Given the description of an element on the screen output the (x, y) to click on. 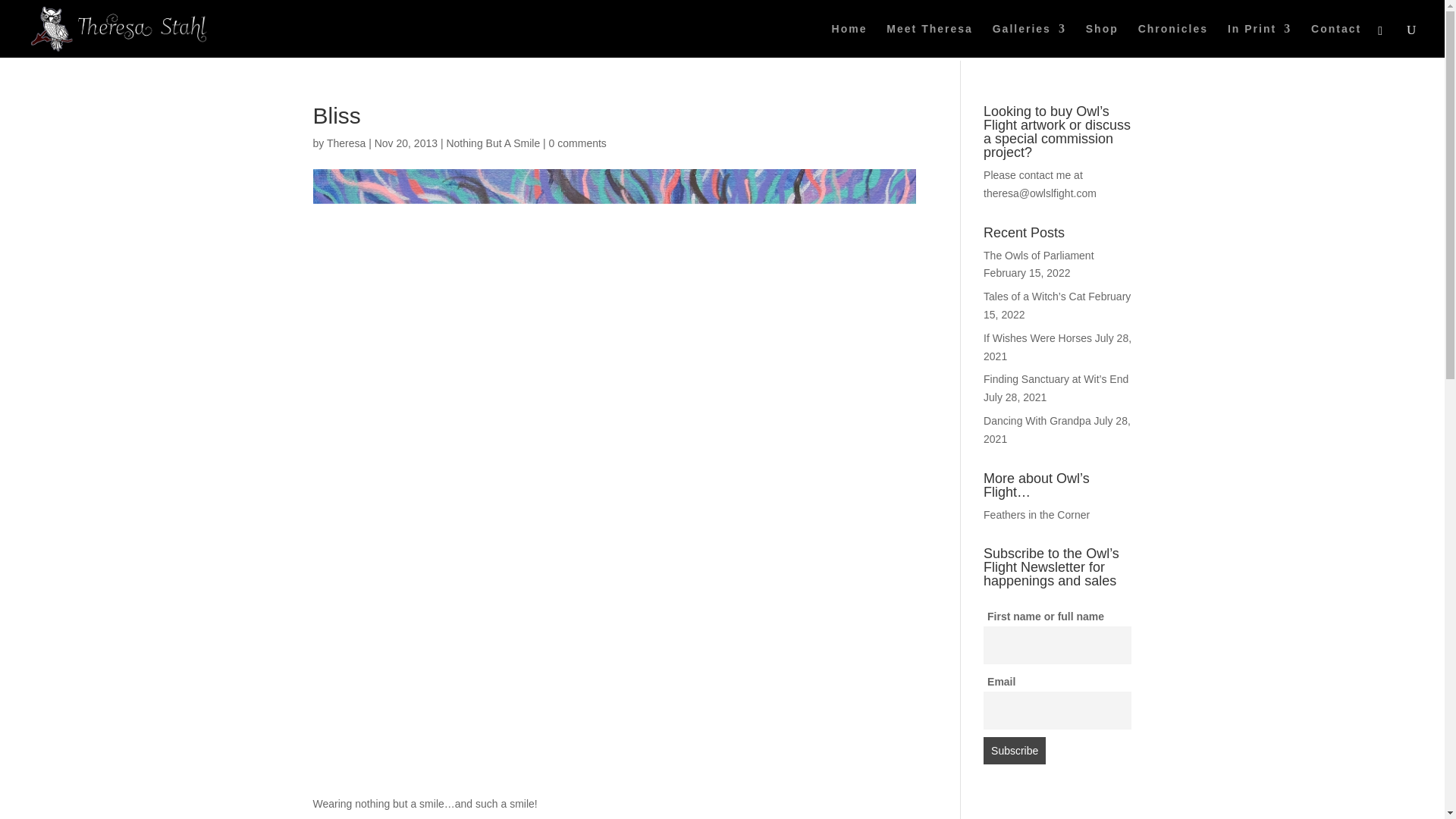
0 comments (577, 143)
Theresa (345, 143)
Home (849, 40)
Contact (1336, 40)
Subscribe (1014, 750)
In Print (1259, 40)
Meet Theresa (929, 40)
Dancing With Grandpa (1037, 420)
Nothing But A Smile (492, 143)
Feathers in the Corner (1036, 514)
The Owls of Parliament (1039, 255)
Chronicles (1173, 40)
Posts by Theresa (345, 143)
If Wishes Were Horses (1038, 337)
Galleries (1028, 40)
